Given the description of an element on the screen output the (x, y) to click on. 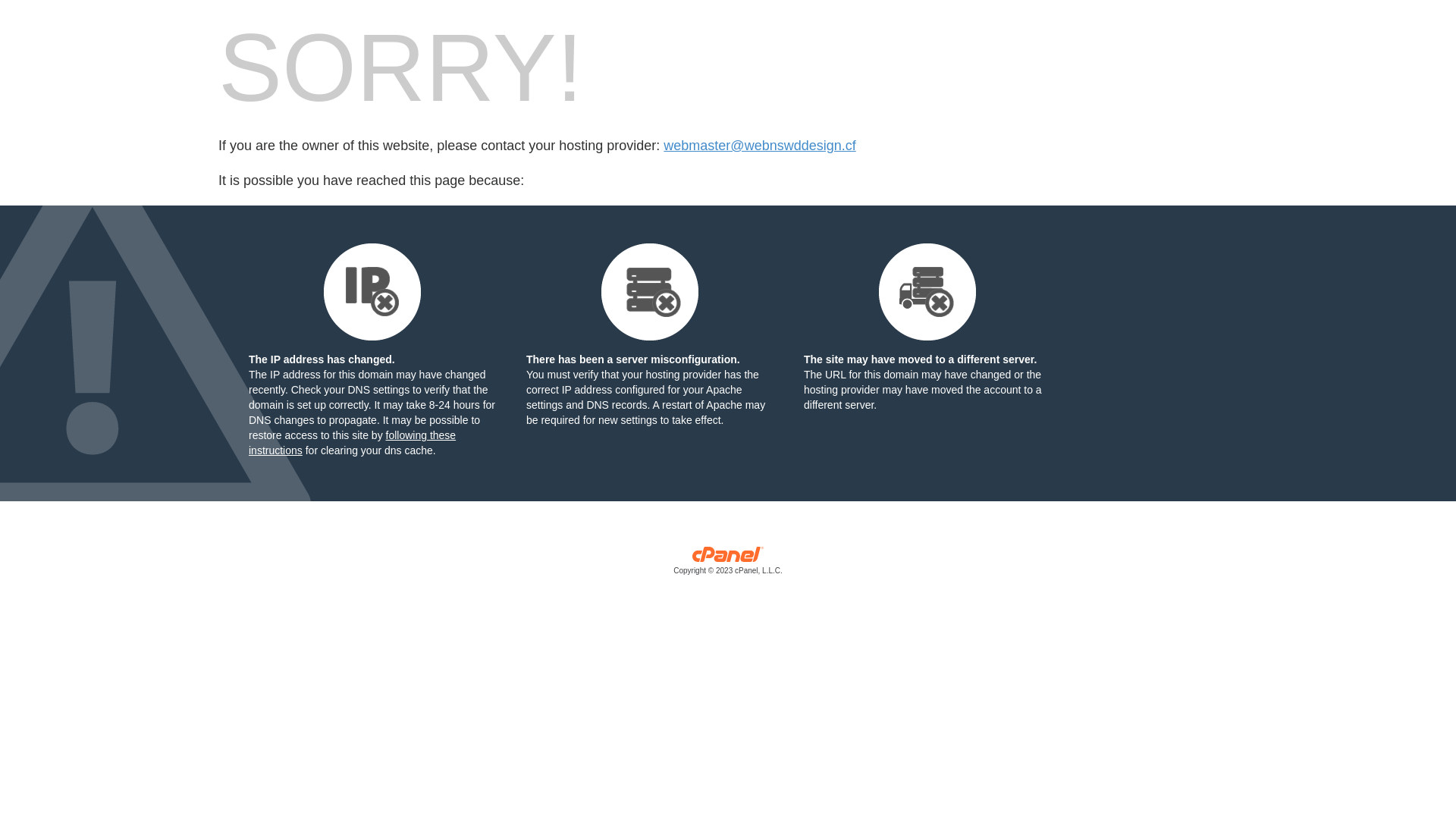
following these instructions Element type: text (351, 442)
webmaster@webnswddesign.cf Element type: text (759, 145)
